Given the description of an element on the screen output the (x, y) to click on. 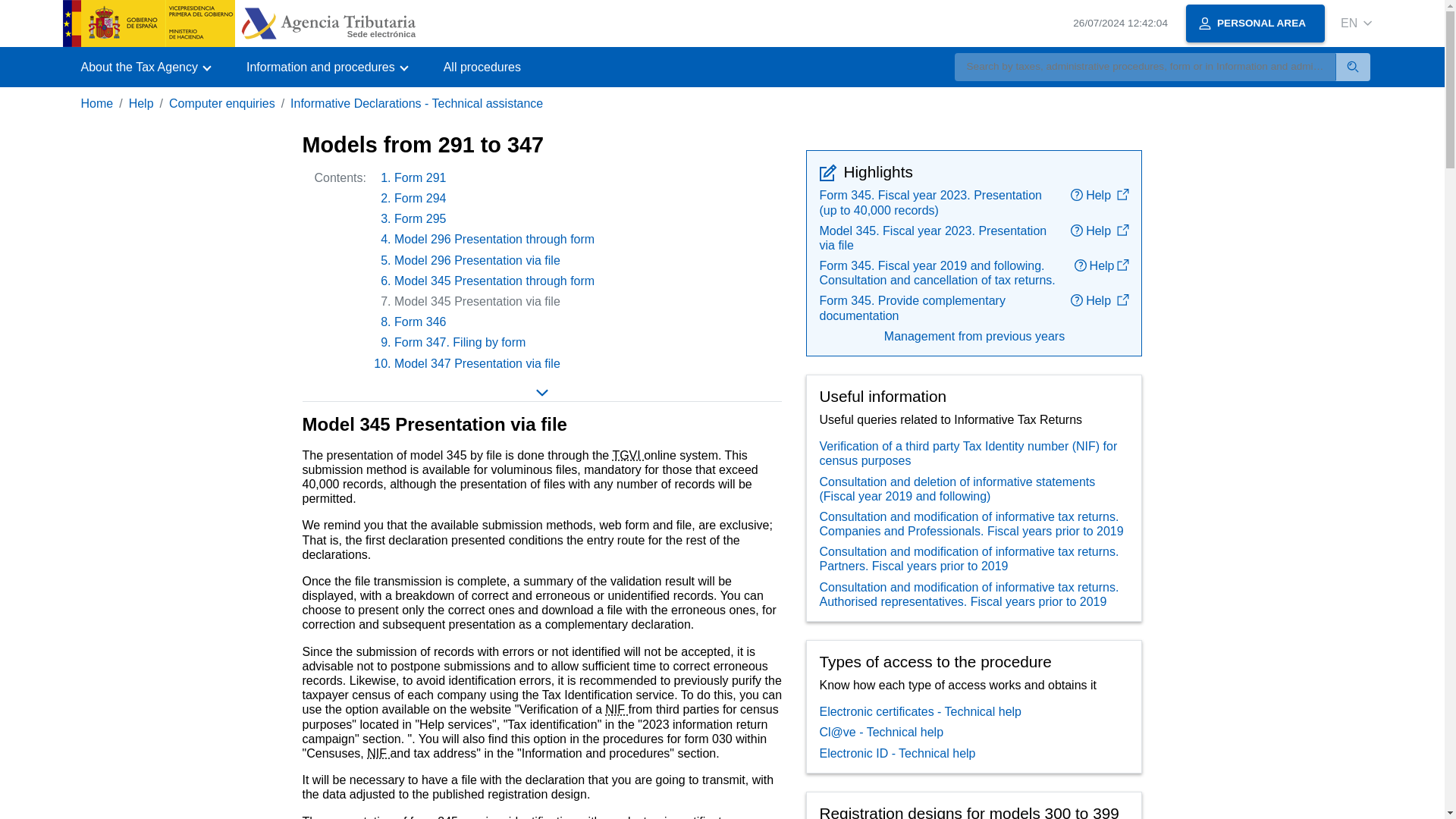
Form 291 (419, 177)
Opens in a new window (1122, 194)
EN (1355, 22)
About the Tax Agency (144, 66)
Information and procedures (326, 66)
Model 296 Presentation through form (494, 238)
PERSONAL AREA (1255, 23)
Form 294 (419, 197)
Search (1352, 66)
Opens in a new window (1122, 265)
Homepage (238, 23)
Form 295 (419, 218)
Current language (1348, 22)
Opens in a new window (1122, 300)
Opens in a new window (1122, 230)
